Given the description of an element on the screen output the (x, y) to click on. 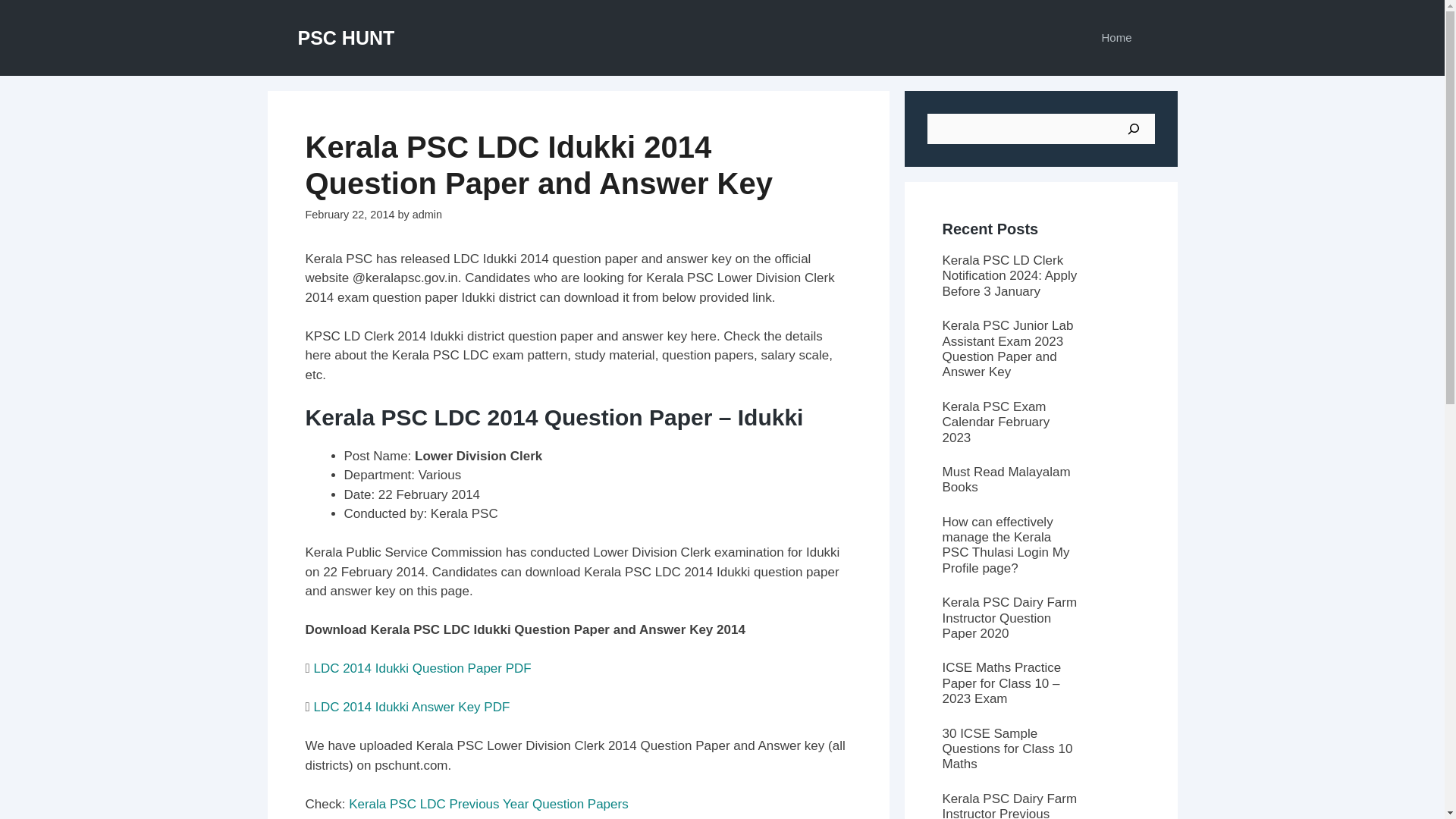
admin (427, 214)
Kerala PSC Exam Calendar February 2023 (995, 422)
Kerala PSC Dairy Farm Instructor Previous Question Papers (1009, 805)
LDC 2014 Idukki Answer Key PDF (411, 707)
View all posts by admin (427, 214)
Kerala PSC LDC Previous Year Question Papers (488, 803)
Must Read Malayalam Books (1006, 479)
Home (1116, 37)
PSC HUNT (345, 37)
LDC 2014 Idukki Question Paper PDF (422, 667)
30 ICSE Sample Questions for Class 10 Maths (1006, 749)
Kerala PSC Dairy Farm Instructor Question Paper 2020 (1009, 617)
